Given the description of an element on the screen output the (x, y) to click on. 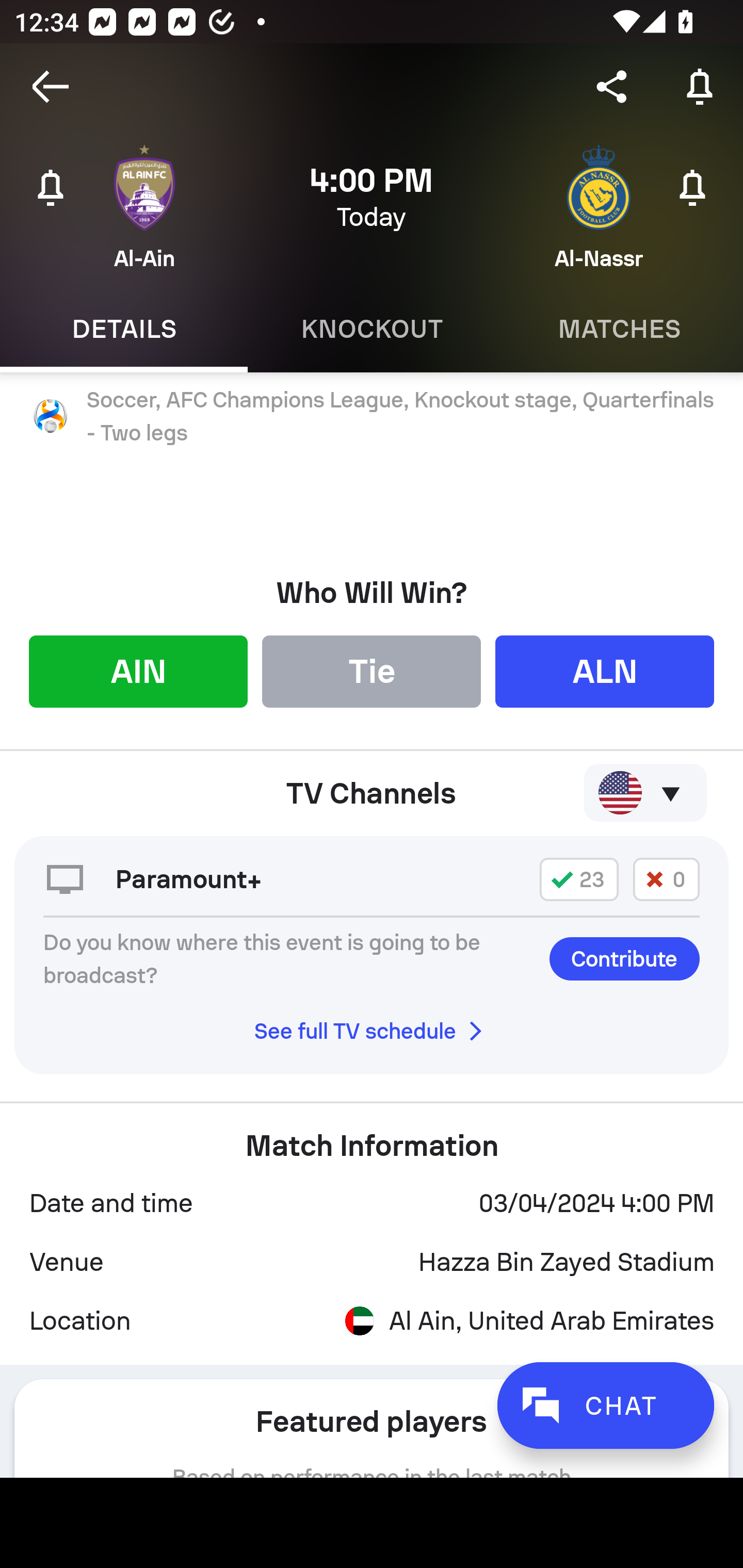
Navigate up (50, 86)
Knockout KNOCKOUT (371, 329)
Matches MATCHES (619, 329)
AIN (137, 671)
Tie (371, 671)
ALN (604, 671)
23 (578, 879)
0 (666, 879)
Contribute (624, 958)
See full TV schedule (371, 1030)
CHAT (605, 1405)
